Given the description of an element on the screen output the (x, y) to click on. 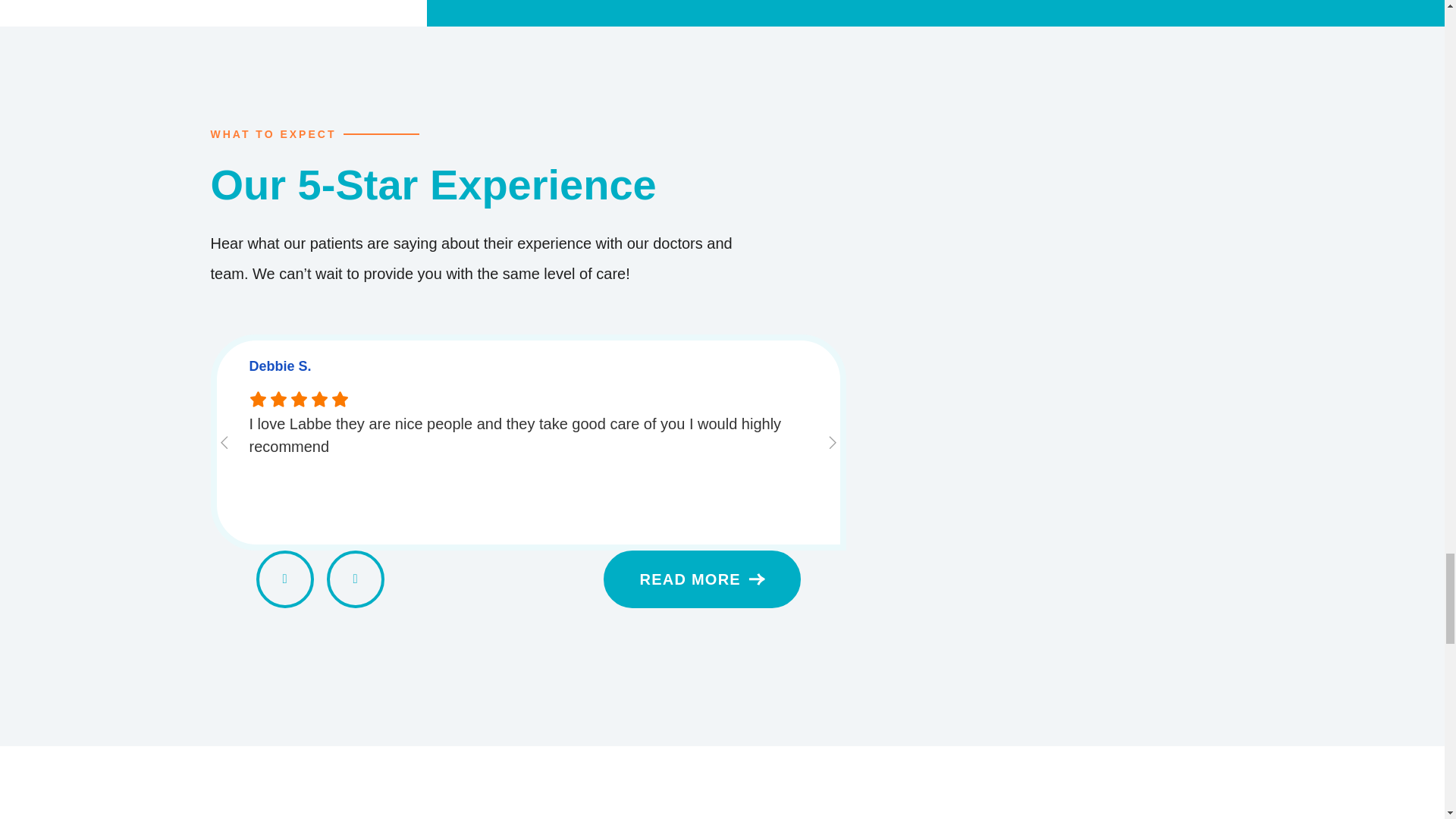
Debbie S. (528, 366)
Fate F. (1127, 366)
